Given the description of an element on the screen output the (x, y) to click on. 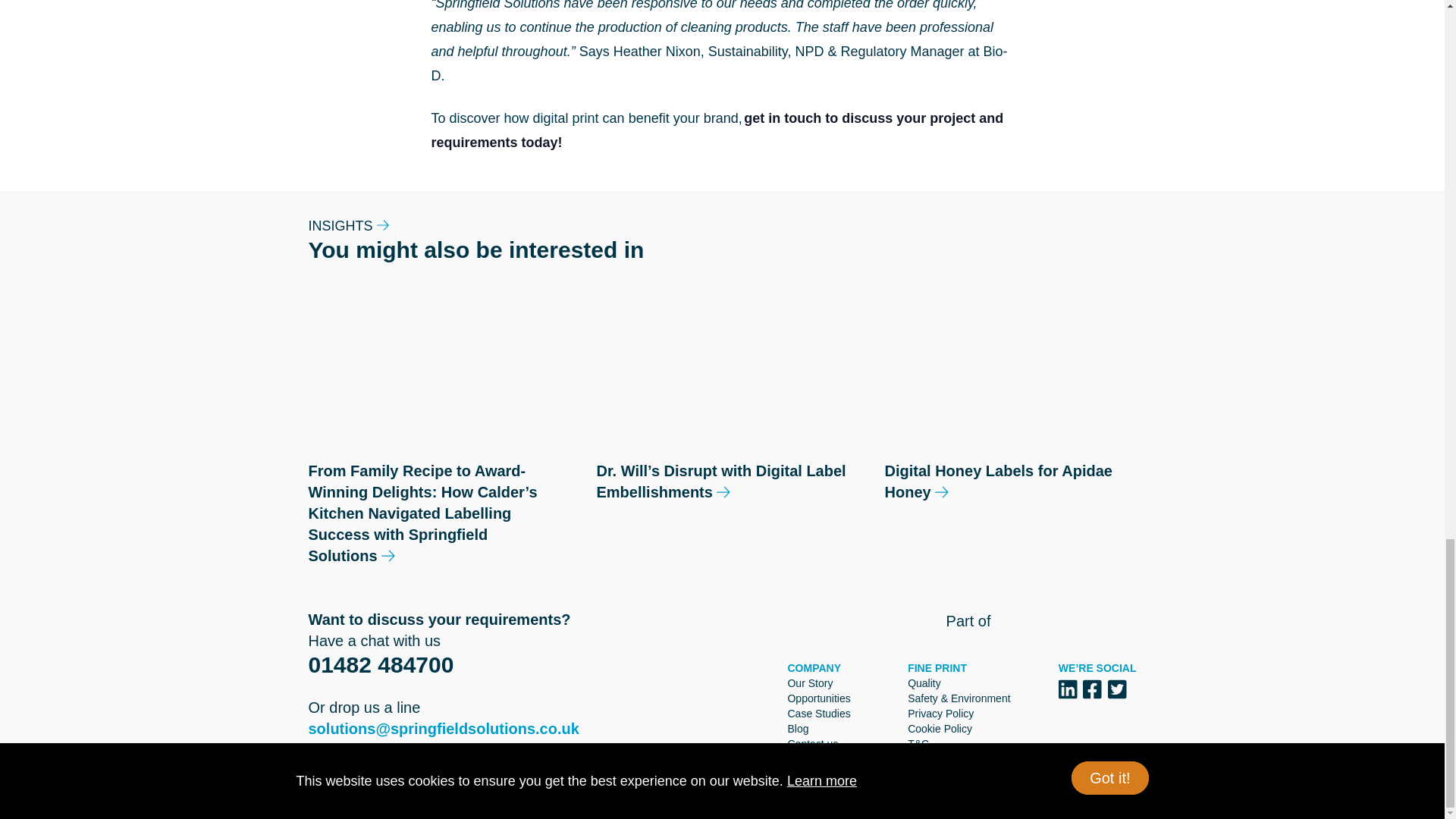
Eon Visual Media (1100, 794)
INSIGHTS (347, 225)
Part of (1041, 620)
Blog (797, 728)
Quality (923, 683)
get in touch to discuss your project and requirements today! (716, 129)
Our Story (809, 683)
Opportunities (818, 698)
Cookie Policy (939, 728)
Contact us (812, 743)
01482 484700 (379, 664)
Case Studies (818, 713)
Privacy Policy (940, 713)
